Given the description of an element on the screen output the (x, y) to click on. 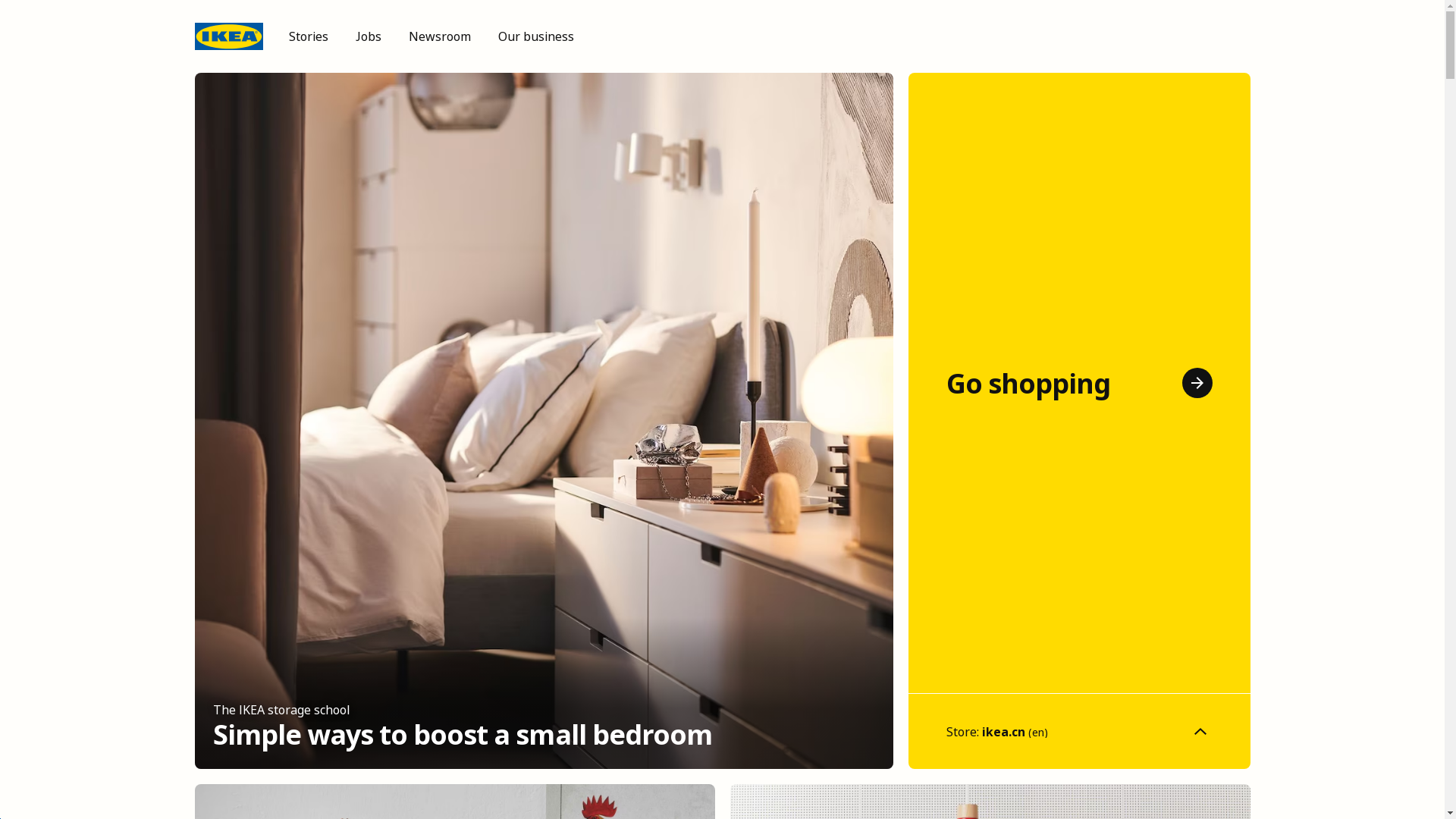
Go to IKEA.com Element type: text (228, 36)
Stories Element type: text (308, 35)
Jobs Element type: text (368, 35)
Our business Element type: text (536, 35)
Go shopping on ikea.cn
Go shopping Element type: text (1079, 382)
Newsroom Element type: text (439, 35)
Store: ikea.cn (en)
Show more IKEA websites Element type: text (1079, 730)
The IKEA storage school
Simple ways to boost a small bedroom Element type: text (543, 420)
